Given the description of an element on the screen output the (x, y) to click on. 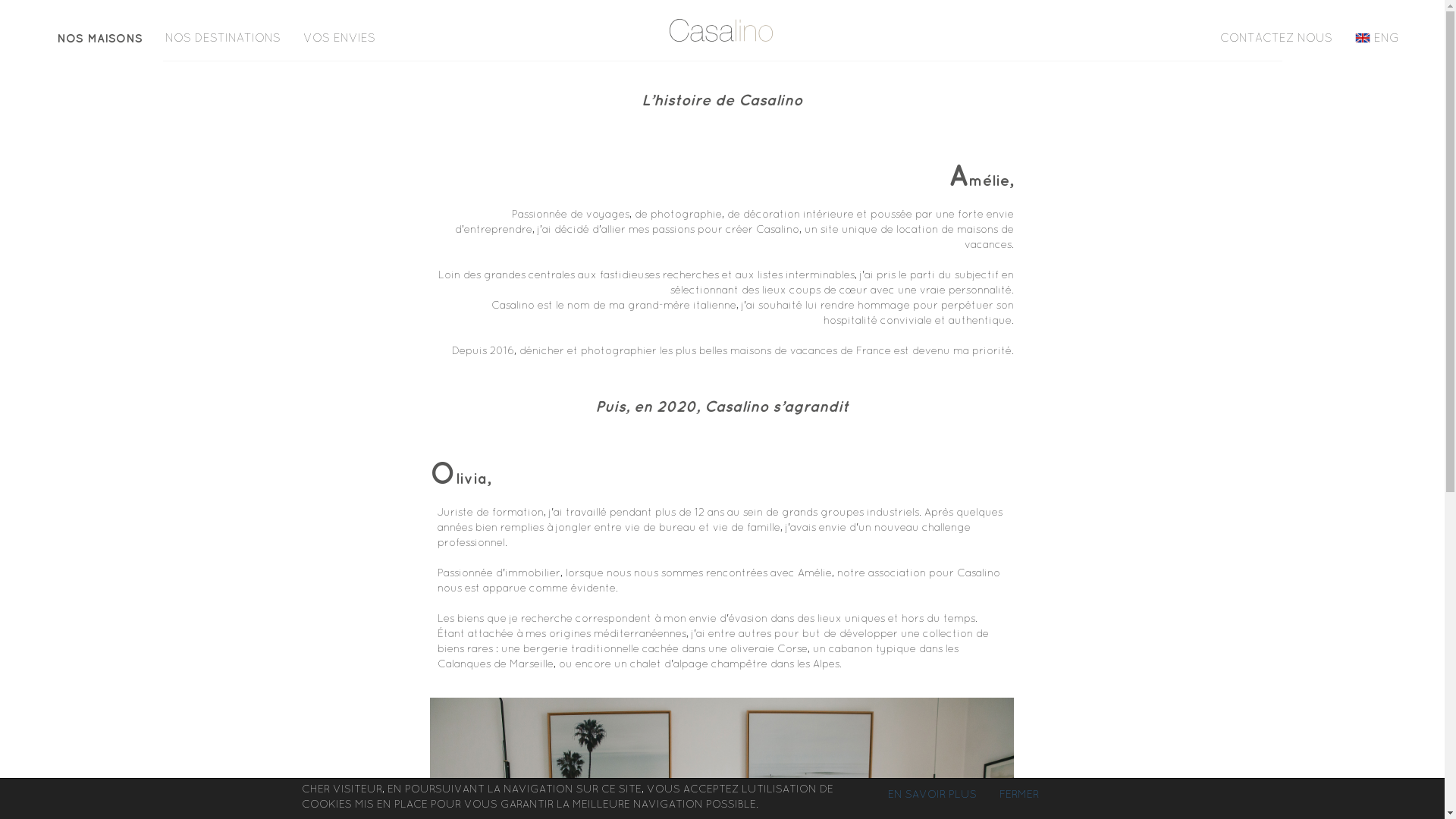
ENG Element type: text (1376, 37)
FERMER Element type: text (1018, 793)
CONTACTEZ NOUS Element type: text (1275, 37)
NOS DESTINATIONS Element type: text (222, 37)
EN SAVOIR PLUS Element type: text (932, 793)
NOS MAISONS Element type: text (99, 37)
VOS ENVIES Element type: text (338, 37)
